Given the description of an element on the screen output the (x, y) to click on. 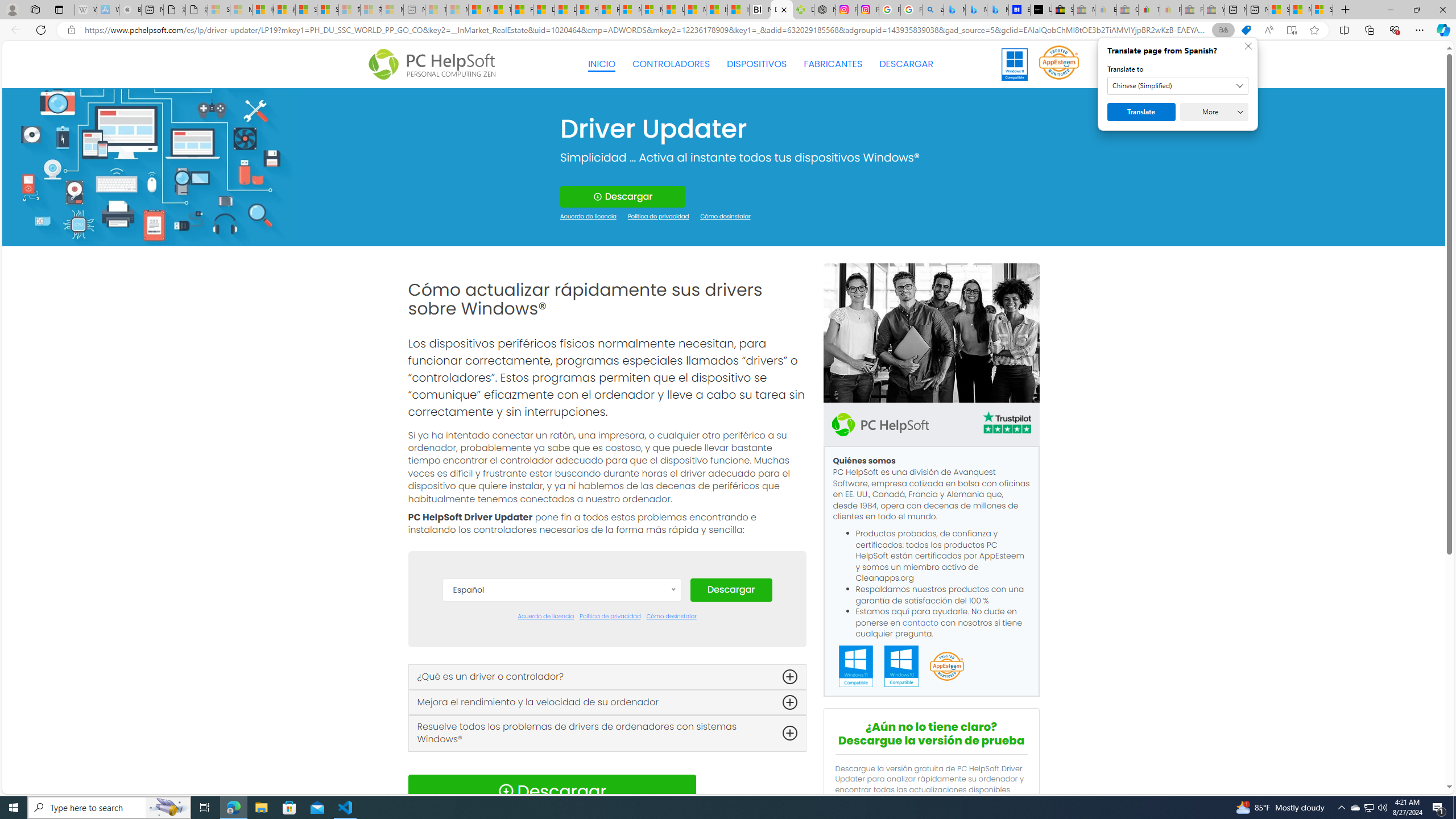
Payments Terms of Use | eBay.com - Sleeping (1170, 9)
Shanghai, China hourly forecast | Microsoft Weather (1278, 9)
Translate to (1177, 85)
Download Icon (505, 791)
Nordace - Nordace Edin Collection (824, 9)
Shopping in Microsoft Edge (1245, 29)
Translate (1141, 112)
DESCARGAR (906, 64)
Foo BAR | Trusted Community Engagement and Contributions (608, 9)
